Given the description of an element on the screen output the (x, y) to click on. 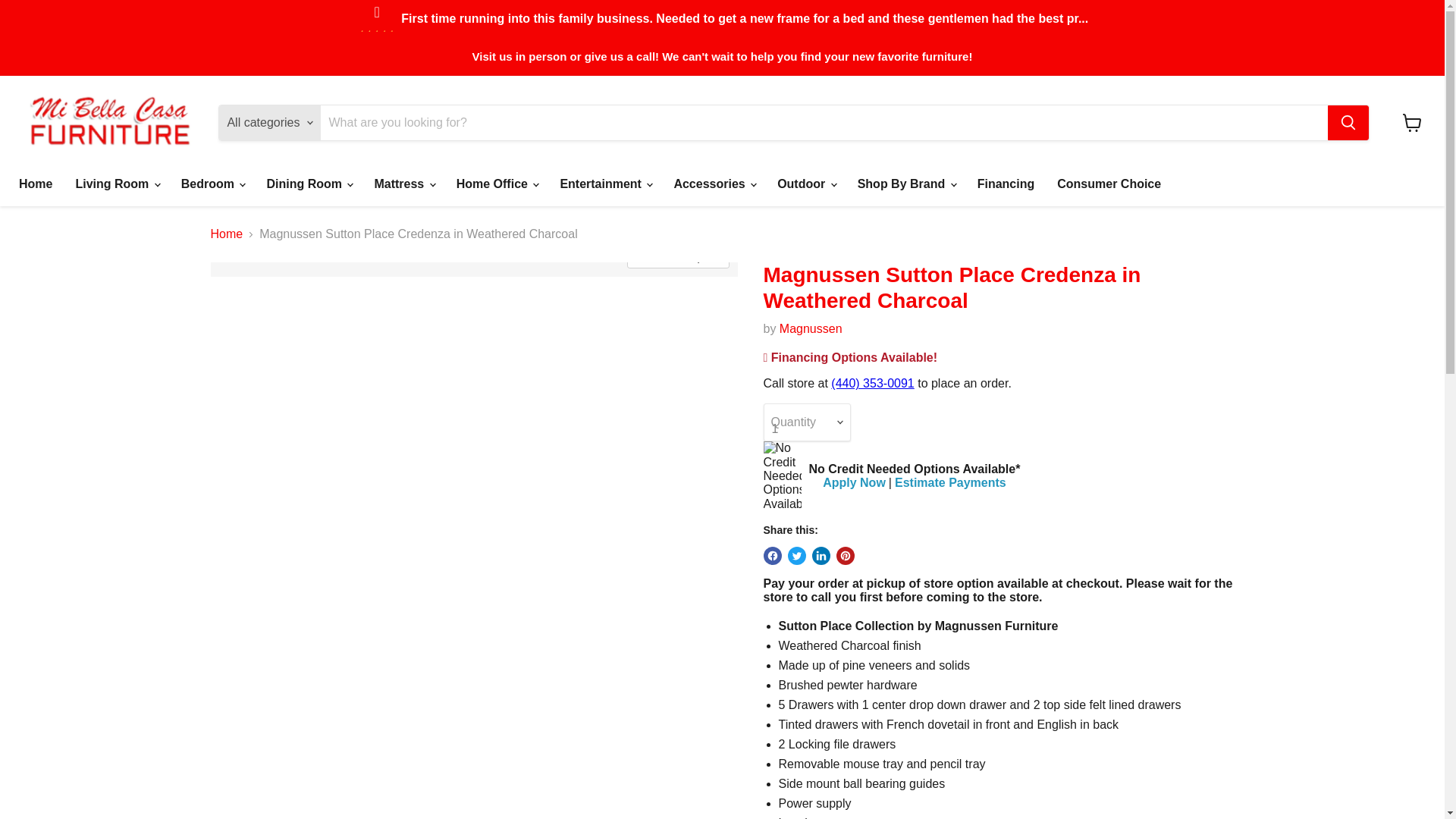
Magnussen (810, 328)
View cart (1411, 122)
Home (35, 183)
